Given the description of an element on the screen output the (x, y) to click on. 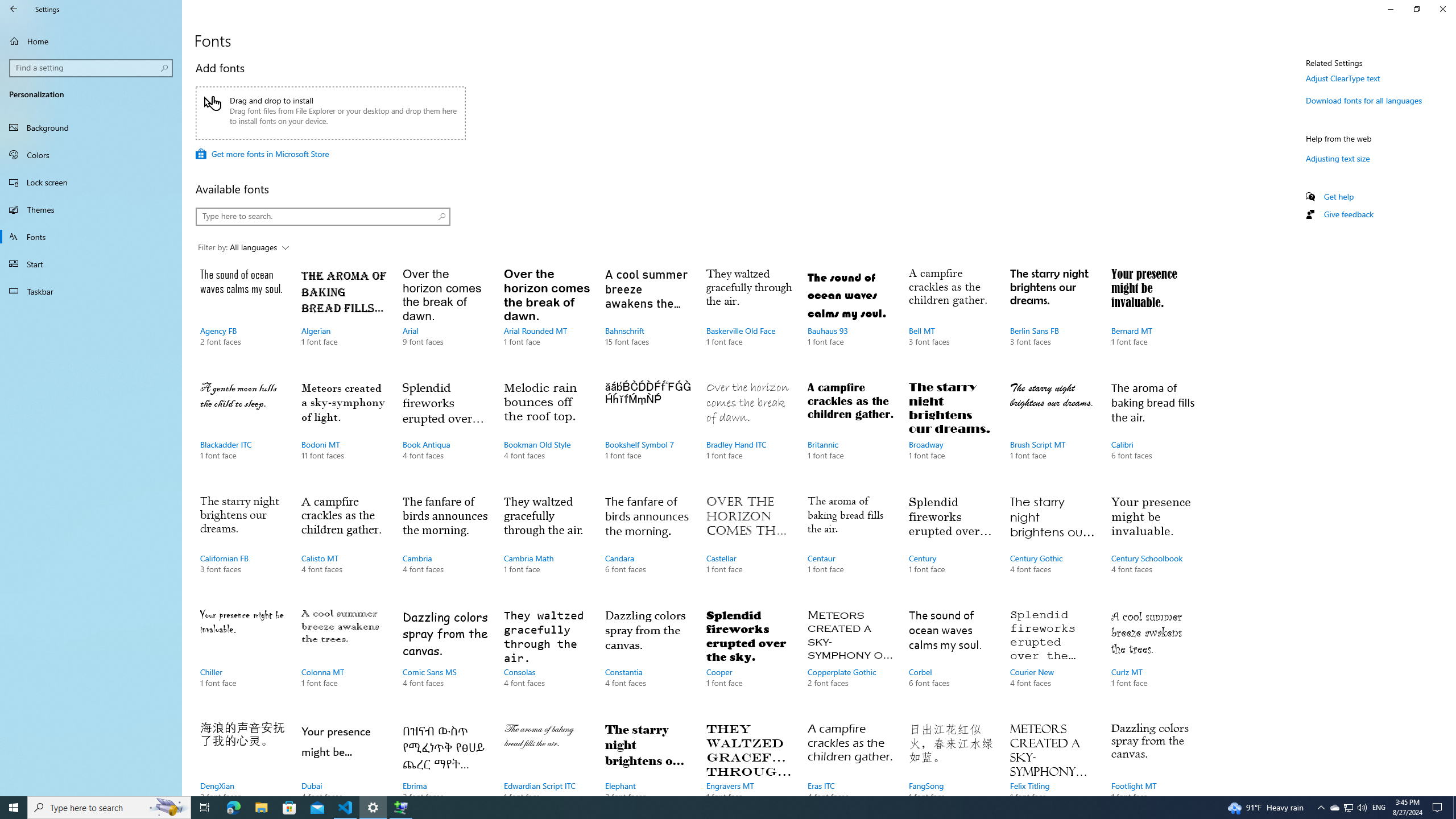
Blackadder ITC, 1 font face (243, 431)
FangSong, 1 font face (951, 756)
Get more fonts in Microsoft Store (262, 153)
Bookman Old Style, 4 font faces (545, 431)
DengXian, 3 font faces (243, 756)
Arial Rounded MT, 1 font face (545, 318)
Running applications (706, 807)
Algerian, 1 font face (343, 318)
